Given the description of an element on the screen output the (x, y) to click on. 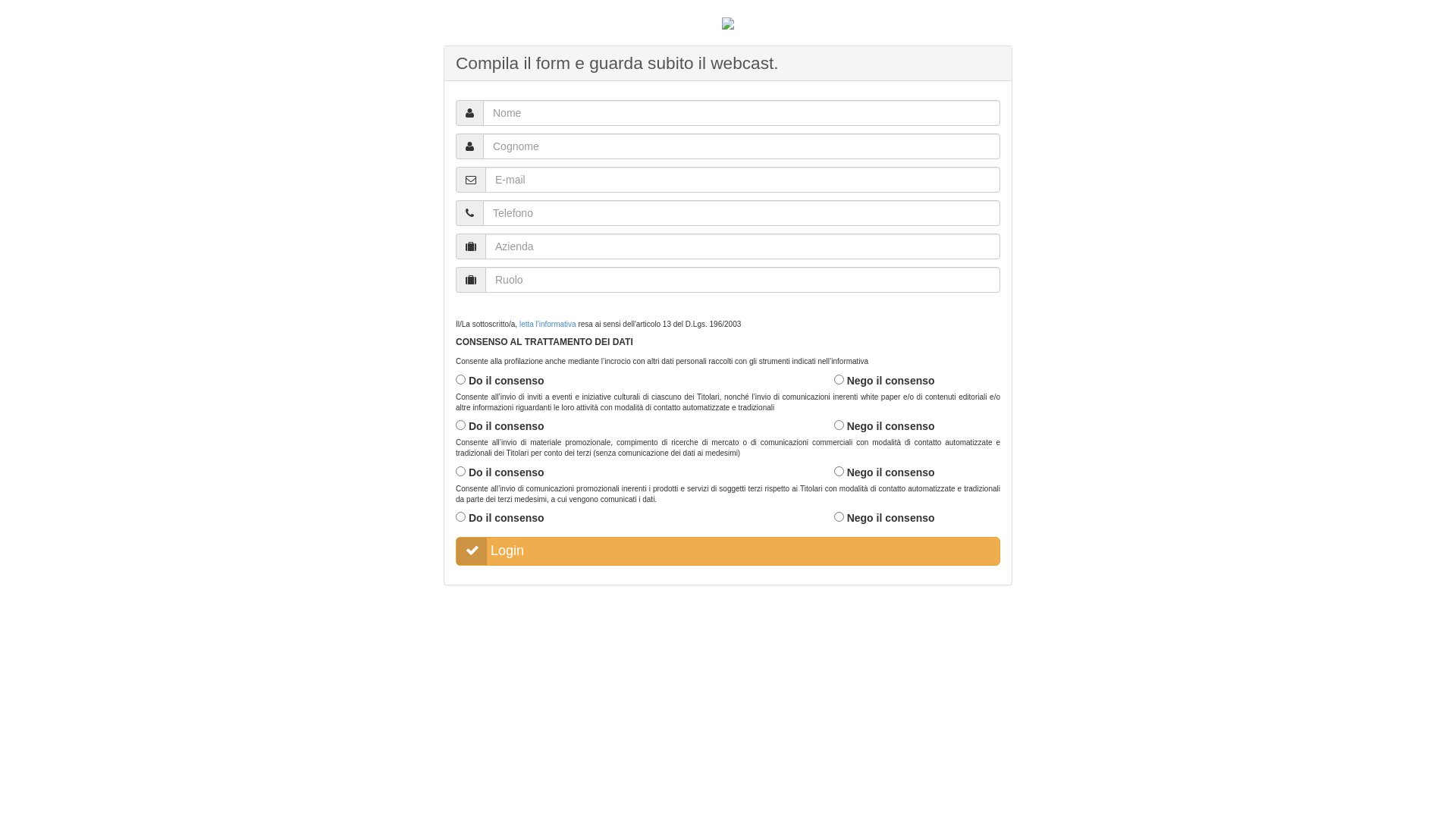
Login Element type: text (727, 550)
letta l'informativa Element type: text (547, 324)
